Given the description of an element on the screen output the (x, y) to click on. 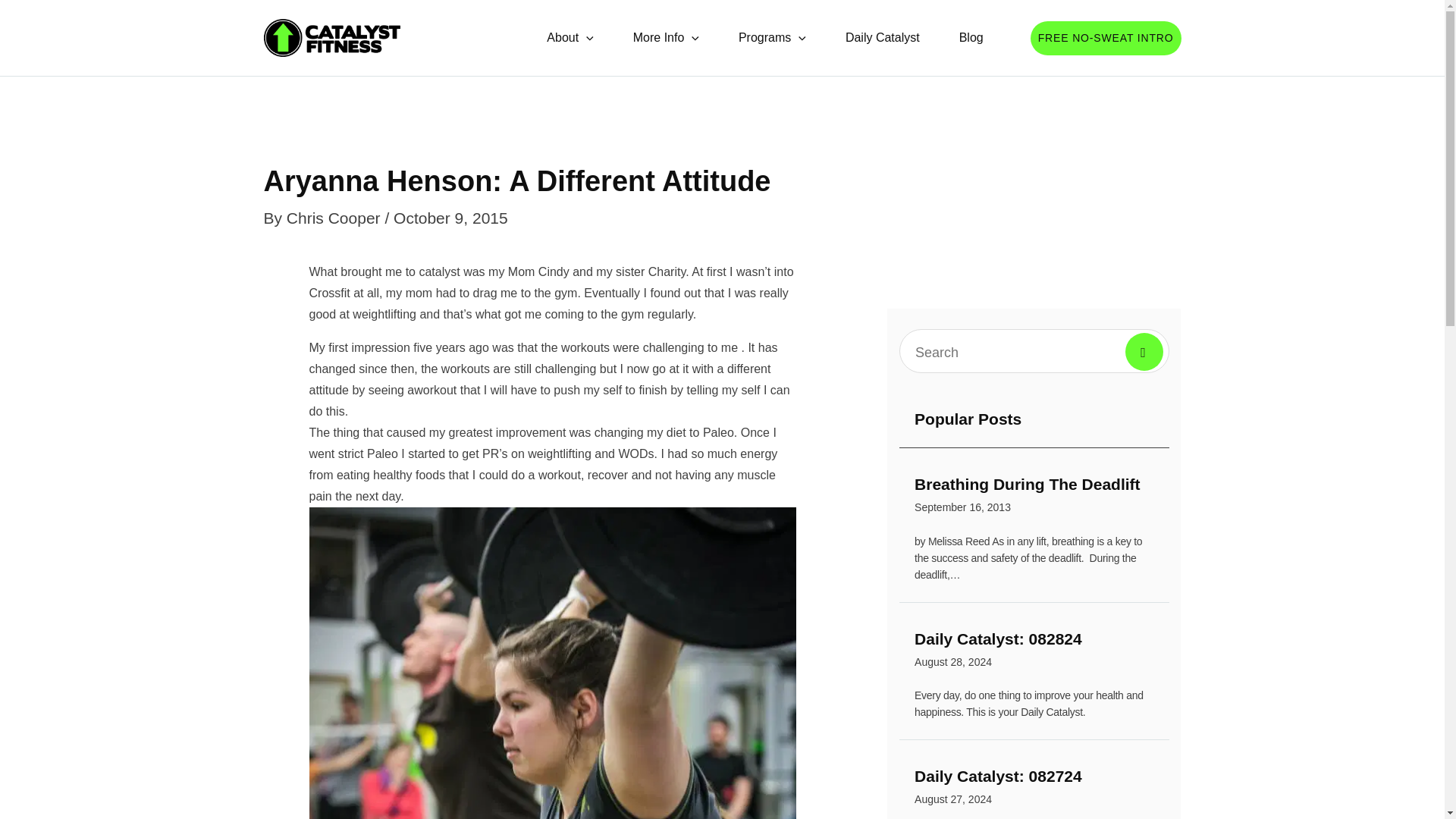
Programs (1034, 497)
Aryanna Henson: A Different Attitude 1 (772, 37)
View all posts by Chris Cooper (1034, 789)
More Info (335, 217)
Blog (882, 37)
About (665, 37)
